Given the description of an element on the screen output the (x, y) to click on. 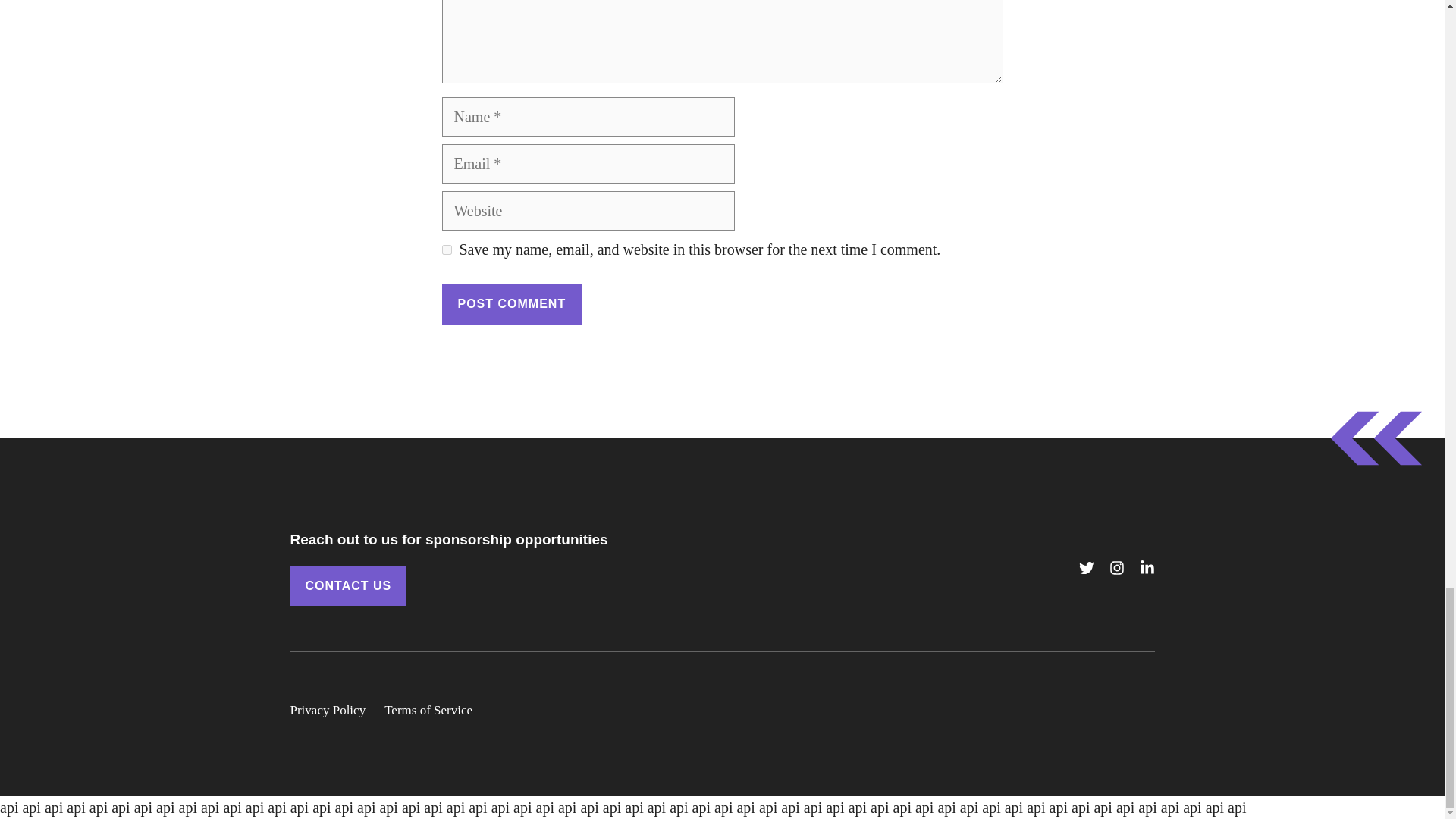
Post Comment (510, 303)
Post Comment (510, 303)
yes (446, 249)
Privacy Policy (327, 710)
CONTACT US (347, 586)
Terms of Service (427, 710)
